Given the description of an element on the screen output the (x, y) to click on. 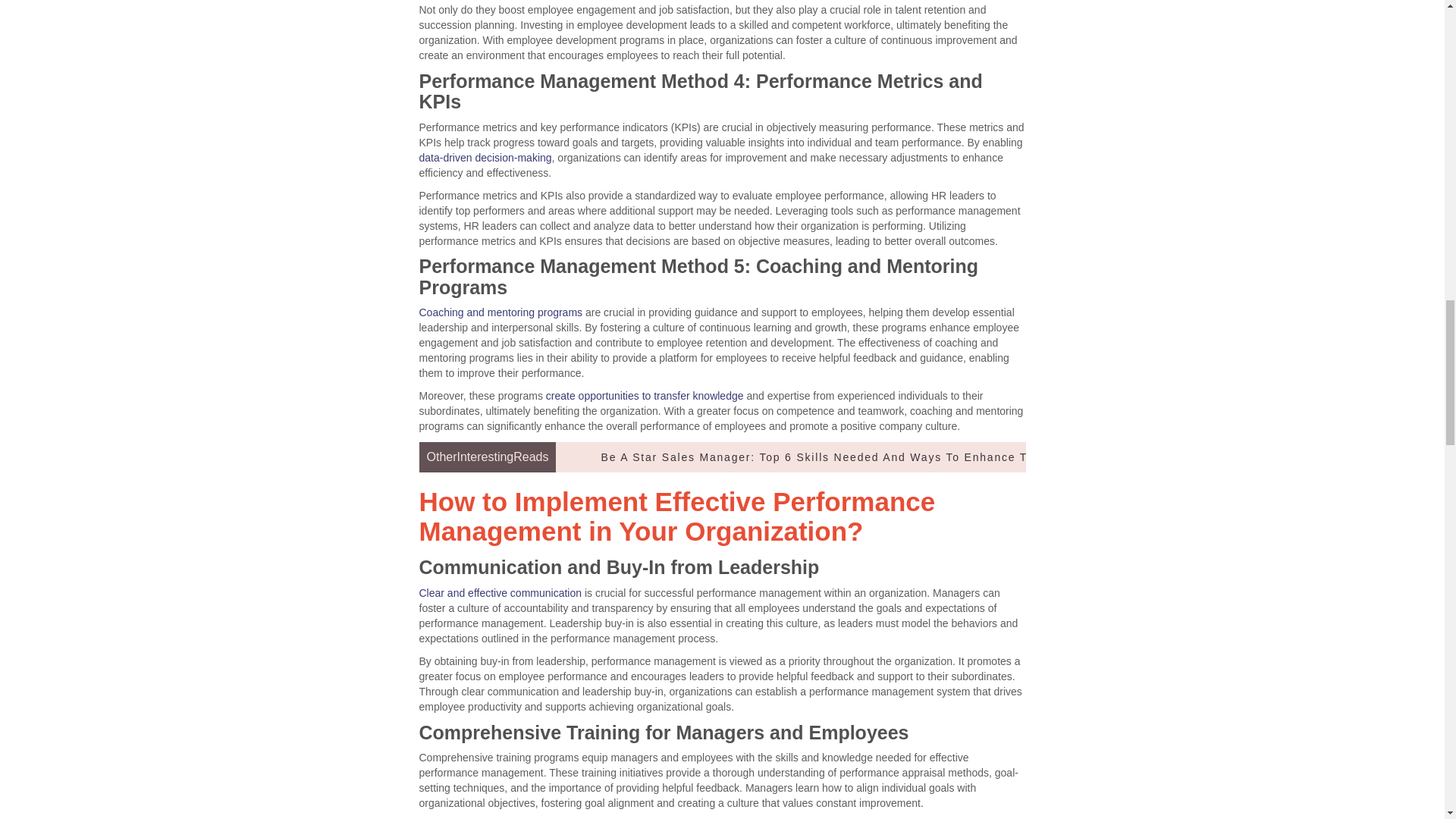
data-driven decision-making (485, 157)
create opportunities to transfer knowledge (645, 395)
Coaching and mentoring programs (500, 312)
